Given the description of an element on the screen output the (x, y) to click on. 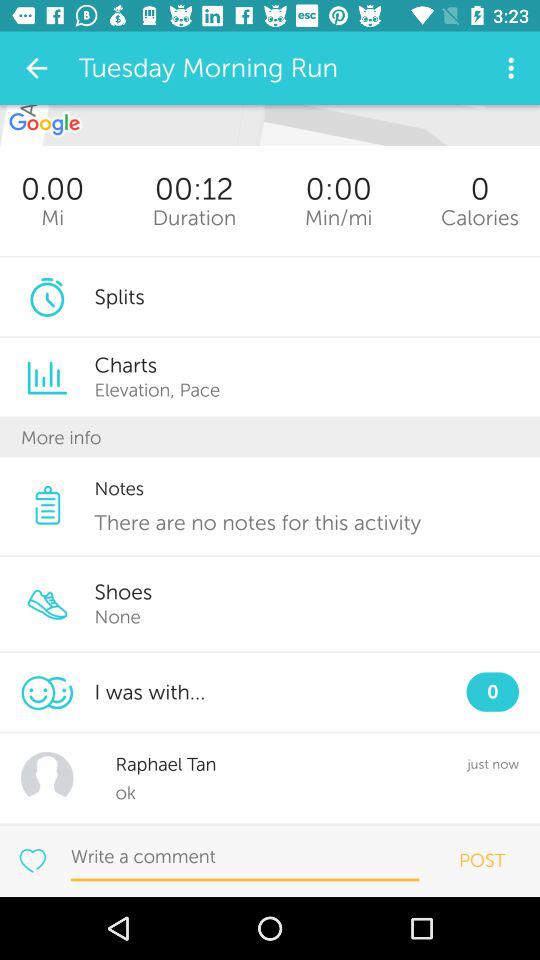
mark favorite (32, 860)
